Given the description of an element on the screen output the (x, y) to click on. 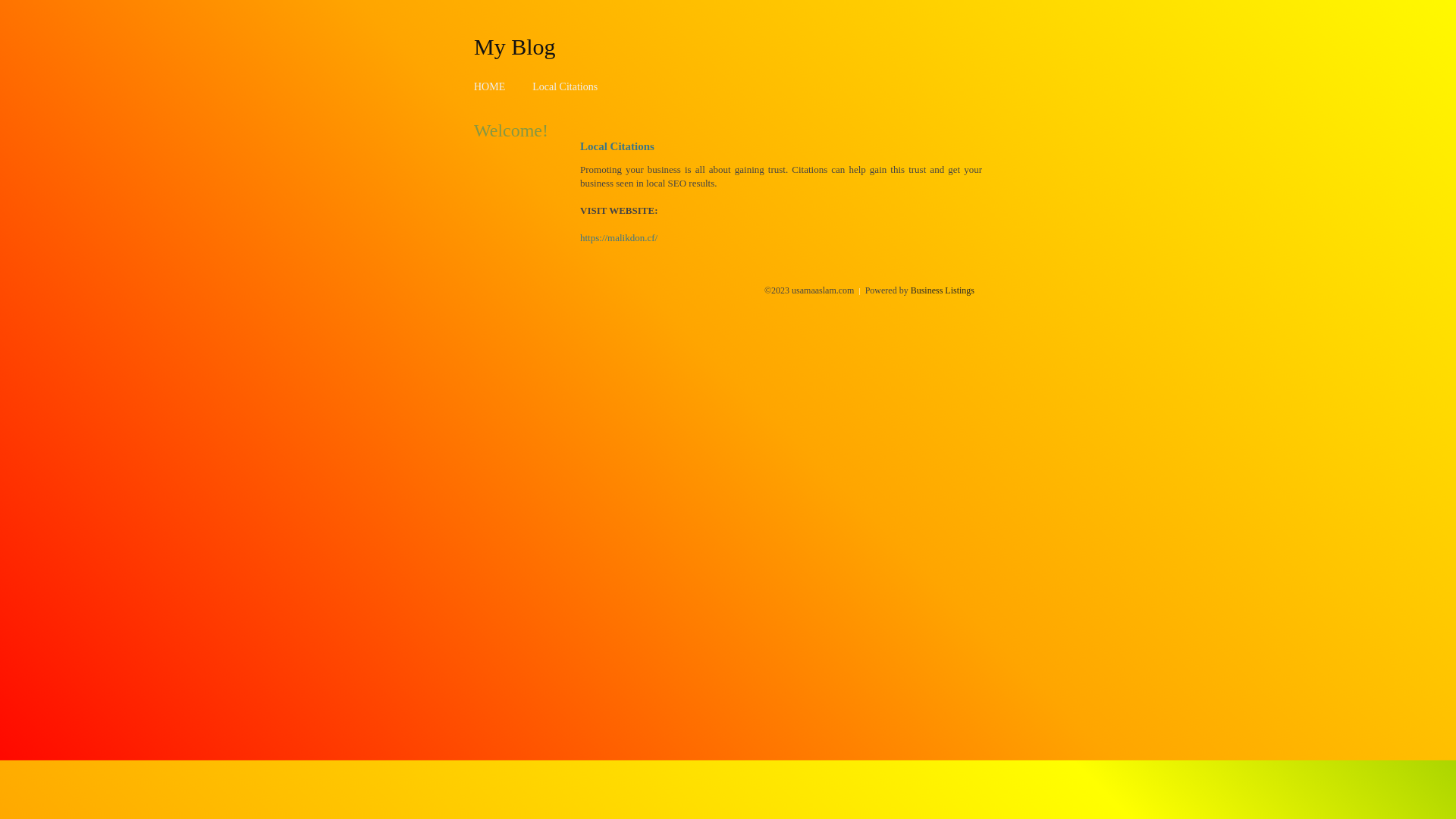
Business Listings Element type: text (942, 290)
https://malikdon.cf/ Element type: text (618, 237)
Local Citations Element type: text (564, 86)
HOME Element type: text (489, 86)
My Blog Element type: text (514, 46)
